Given the description of an element on the screen output the (x, y) to click on. 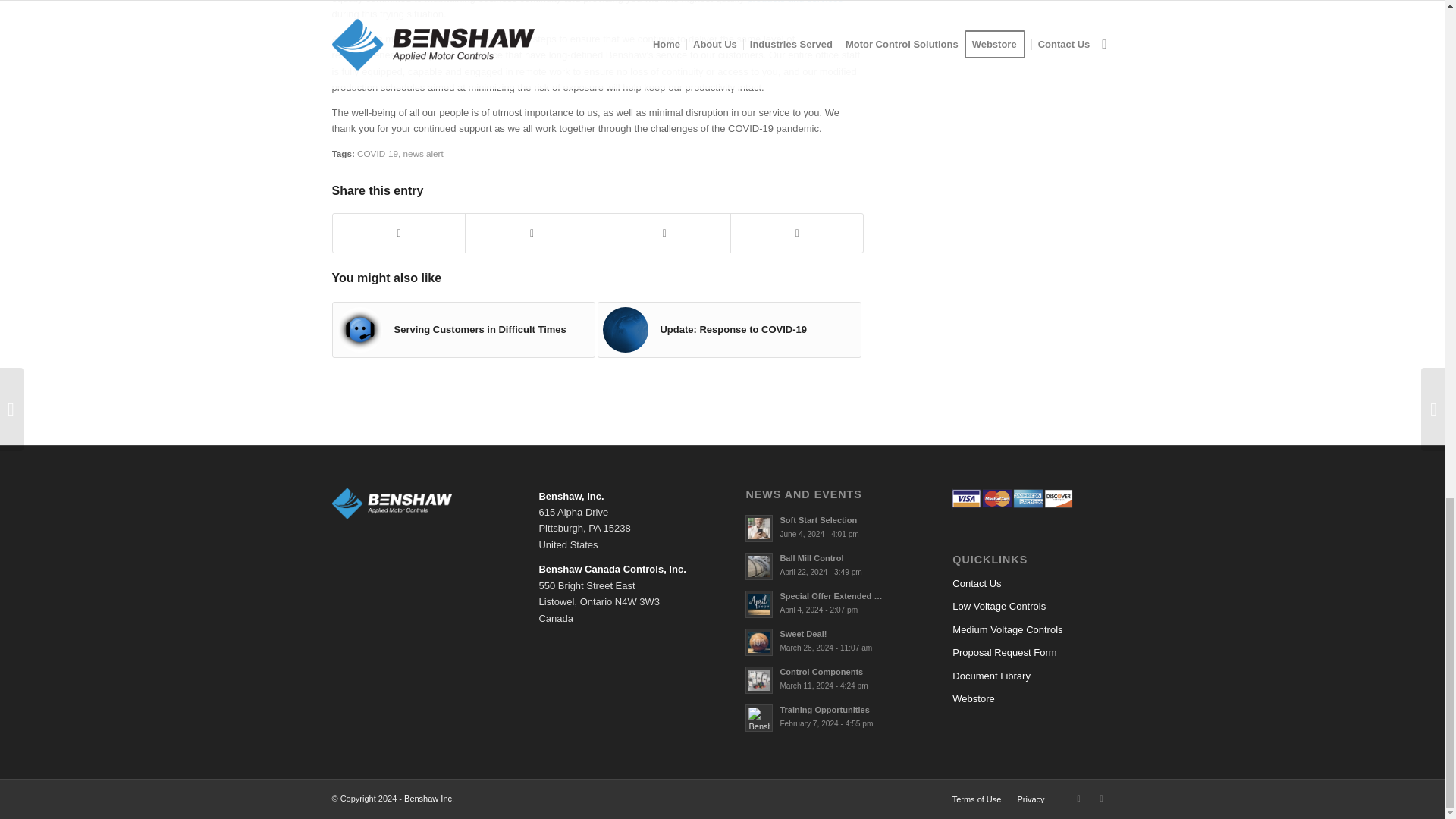
2020-04-06-featured-image-002 (358, 329)
Serving Customers in Difficult Times (463, 329)
Update: Response to COVID-19 (728, 329)
